Given the description of an element on the screen output the (x, y) to click on. 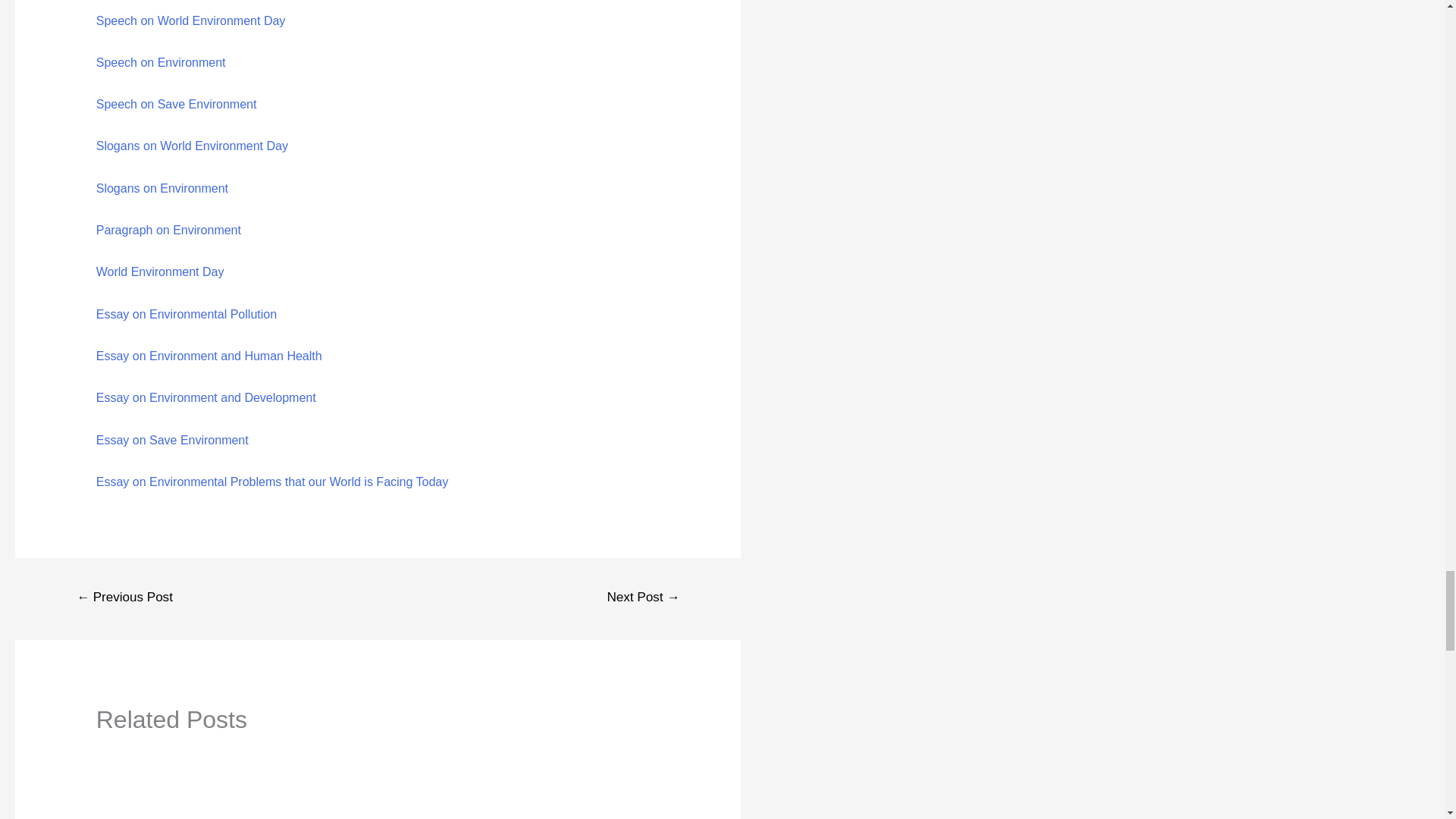
Speech on World Environment Day (190, 20)
Speech on Save Environment (176, 103)
Speech on Environment (160, 62)
